Given the description of an element on the screen output the (x, y) to click on. 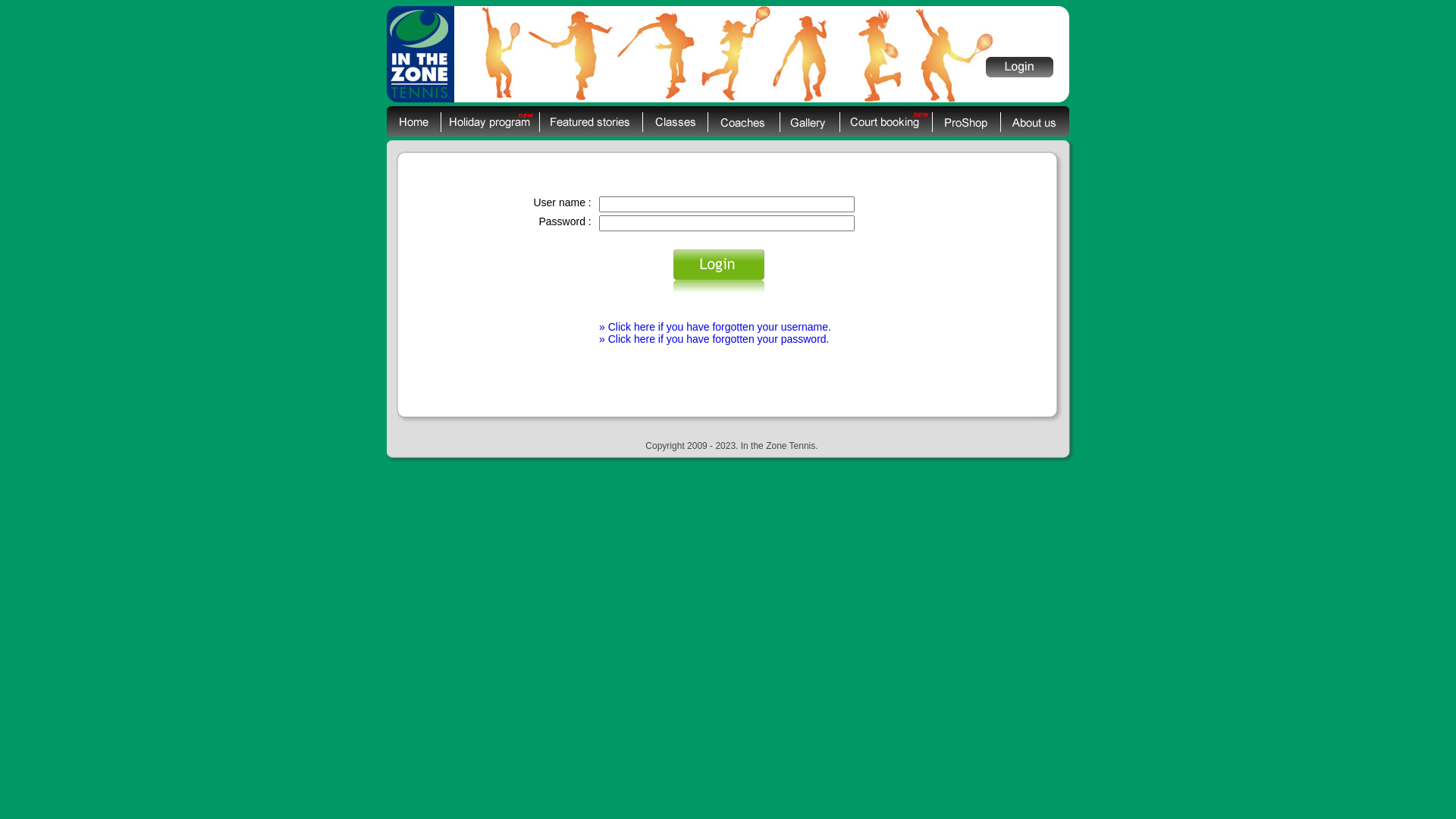
Gallery Element type: text (809, 121)
Classes Element type: text (674, 121)
School Holiday Programs Element type: text (489, 121)
About us Element type: text (1034, 121)
Coaches Element type: text (743, 121)
Proshop Element type: text (965, 121)
Home Element type: text (413, 121)
Featured stories Element type: text (590, 121)
Court booking Element type: text (885, 121)
